Given the description of an element on the screen output the (x, y) to click on. 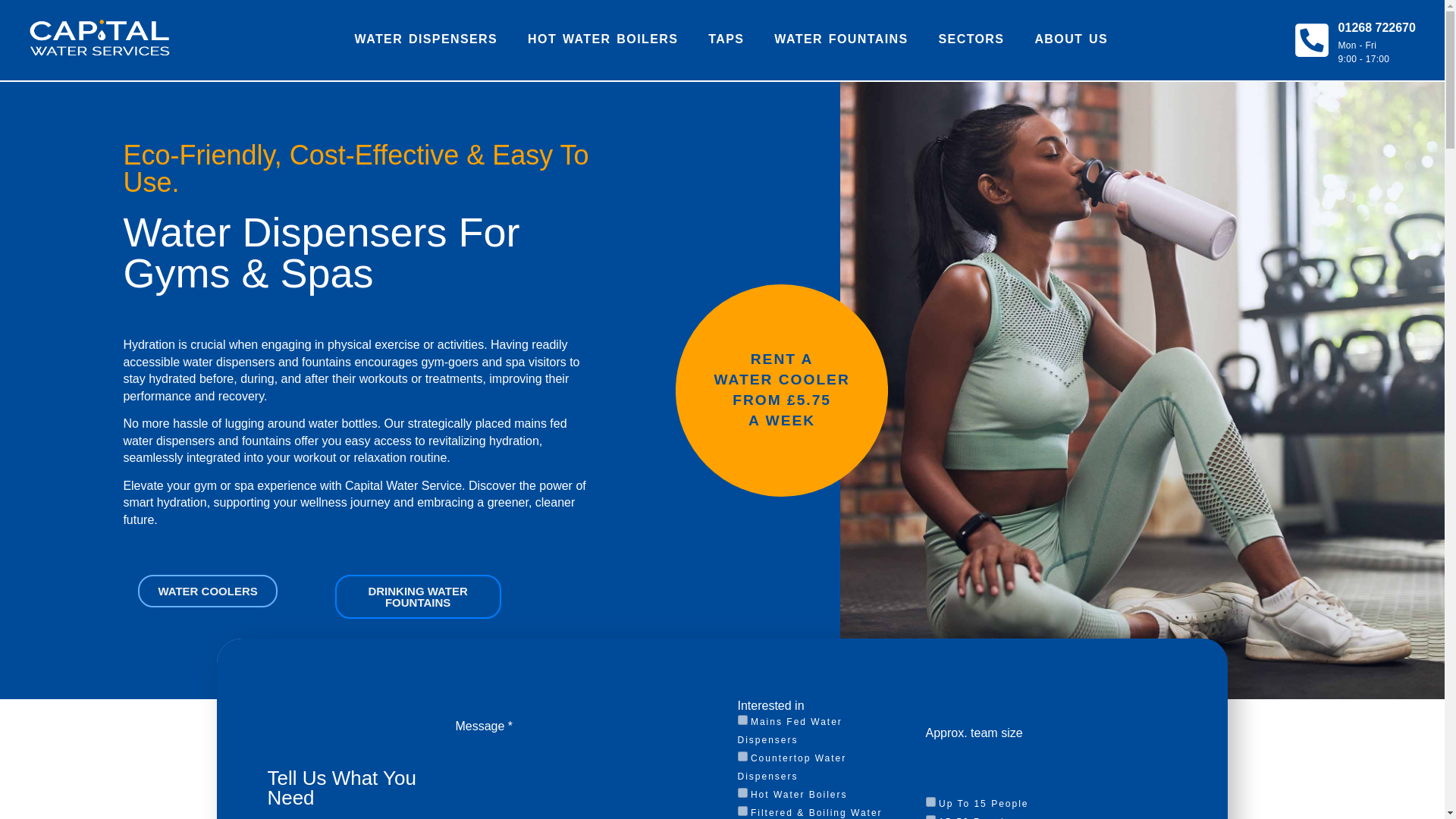
Up to 15 people (931, 801)
WATER DISPENSERS (426, 39)
HOT WATER BOILERS (602, 39)
TAPS (725, 39)
ABOUT US (1070, 39)
WATER FOUNTAINS (840, 39)
hot water boilers (741, 792)
Countertop Water Dispensers (741, 756)
Mains Fed Water Dispensers (741, 719)
SECTORS (971, 39)
